Given the description of an element on the screen output the (x, y) to click on. 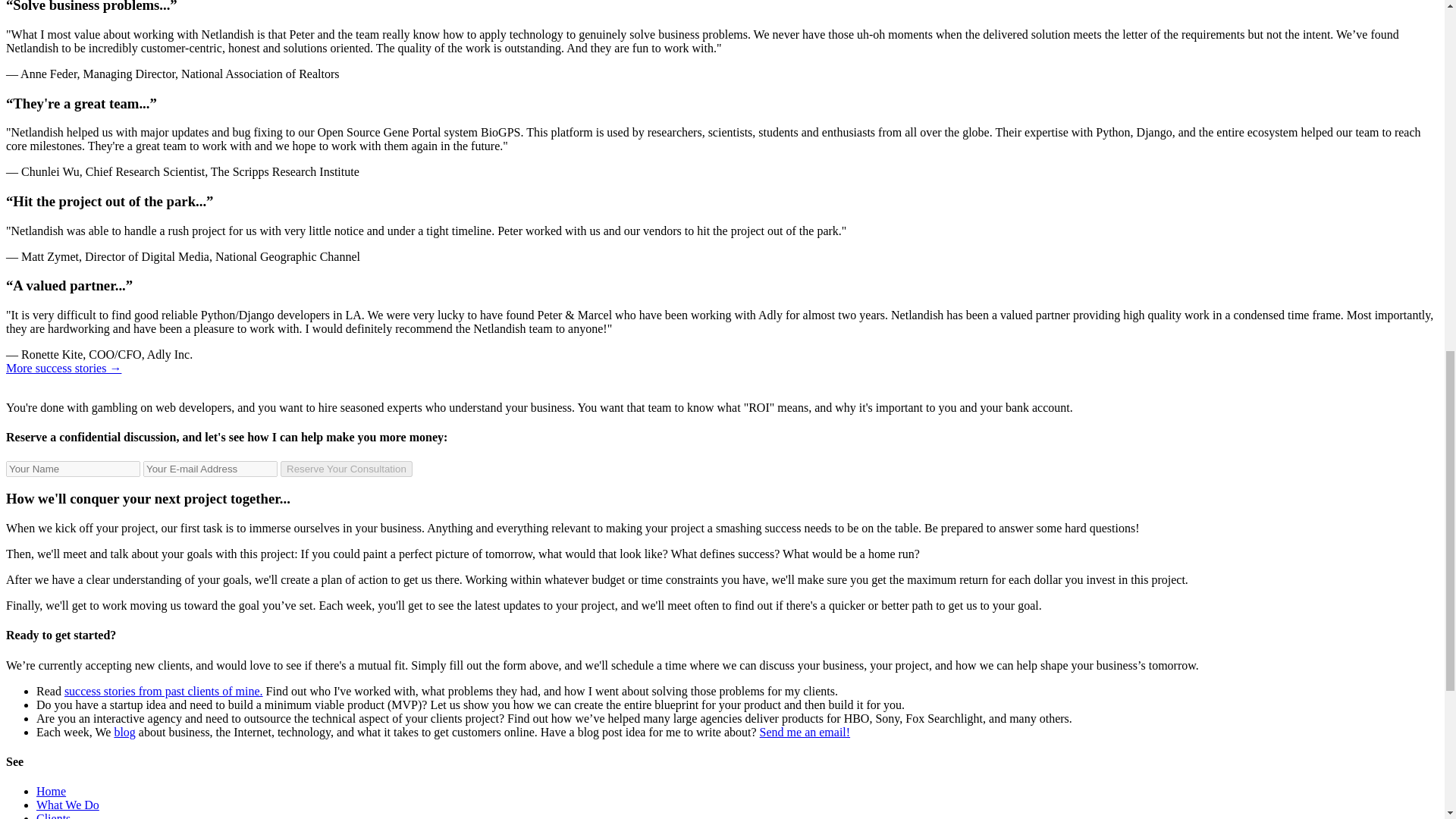
Clients (52, 815)
success stories from past clients of mine. (163, 690)
Send me an email! (805, 731)
What We Do (67, 804)
Home (50, 790)
Reserve Your Consultation (346, 468)
blog (124, 731)
Reserve Your Consultation (346, 468)
